Given the description of an element on the screen output the (x, y) to click on. 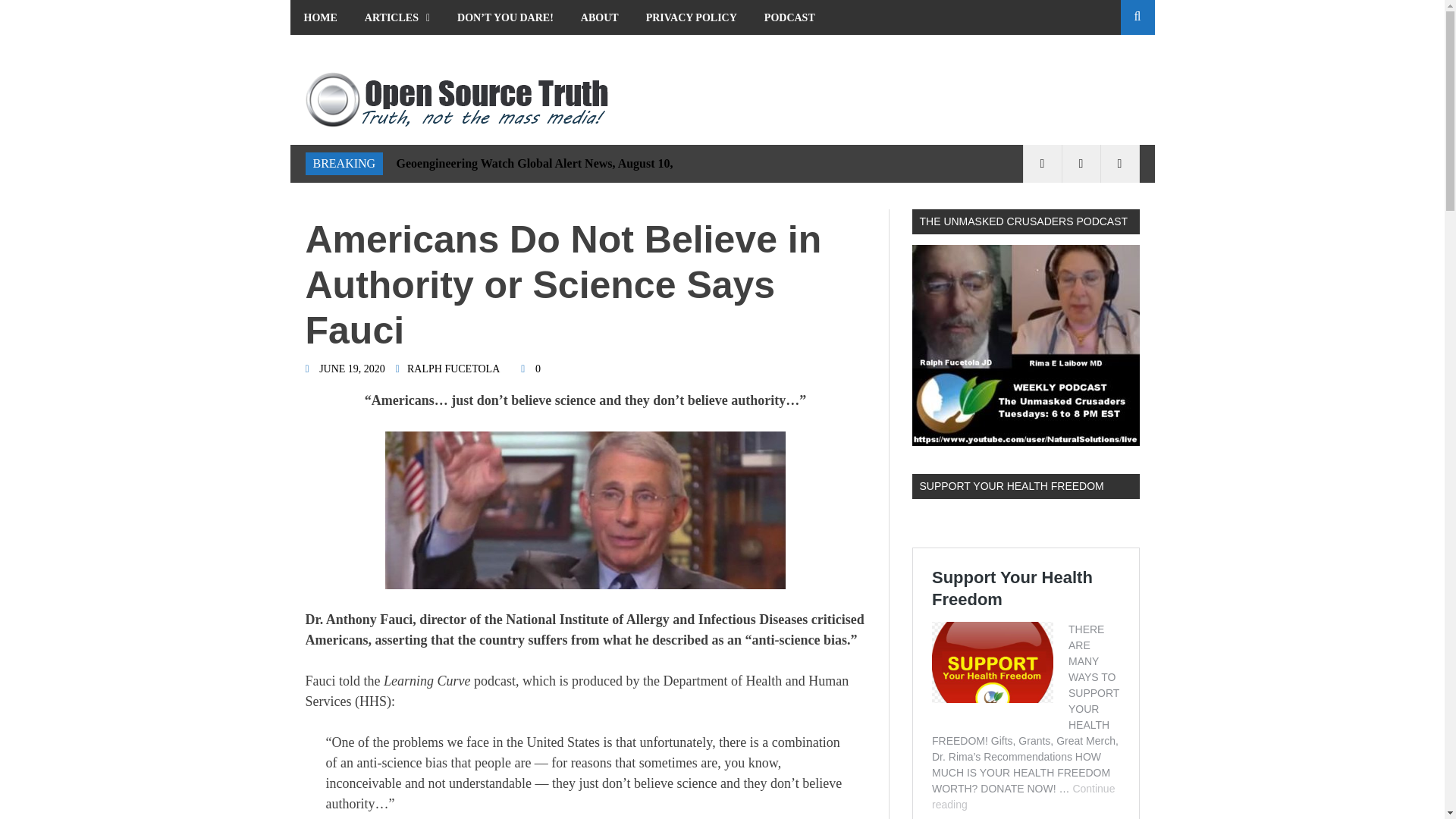
ARTICLES (397, 17)
HOME (319, 17)
The Unmasked Crusaders Weekly Podcast (1024, 344)
MEMES (322, 52)
PODCAST (789, 17)
PRIVACY POLICY (691, 17)
ABOUT (599, 17)
